Given the description of an element on the screen output the (x, y) to click on. 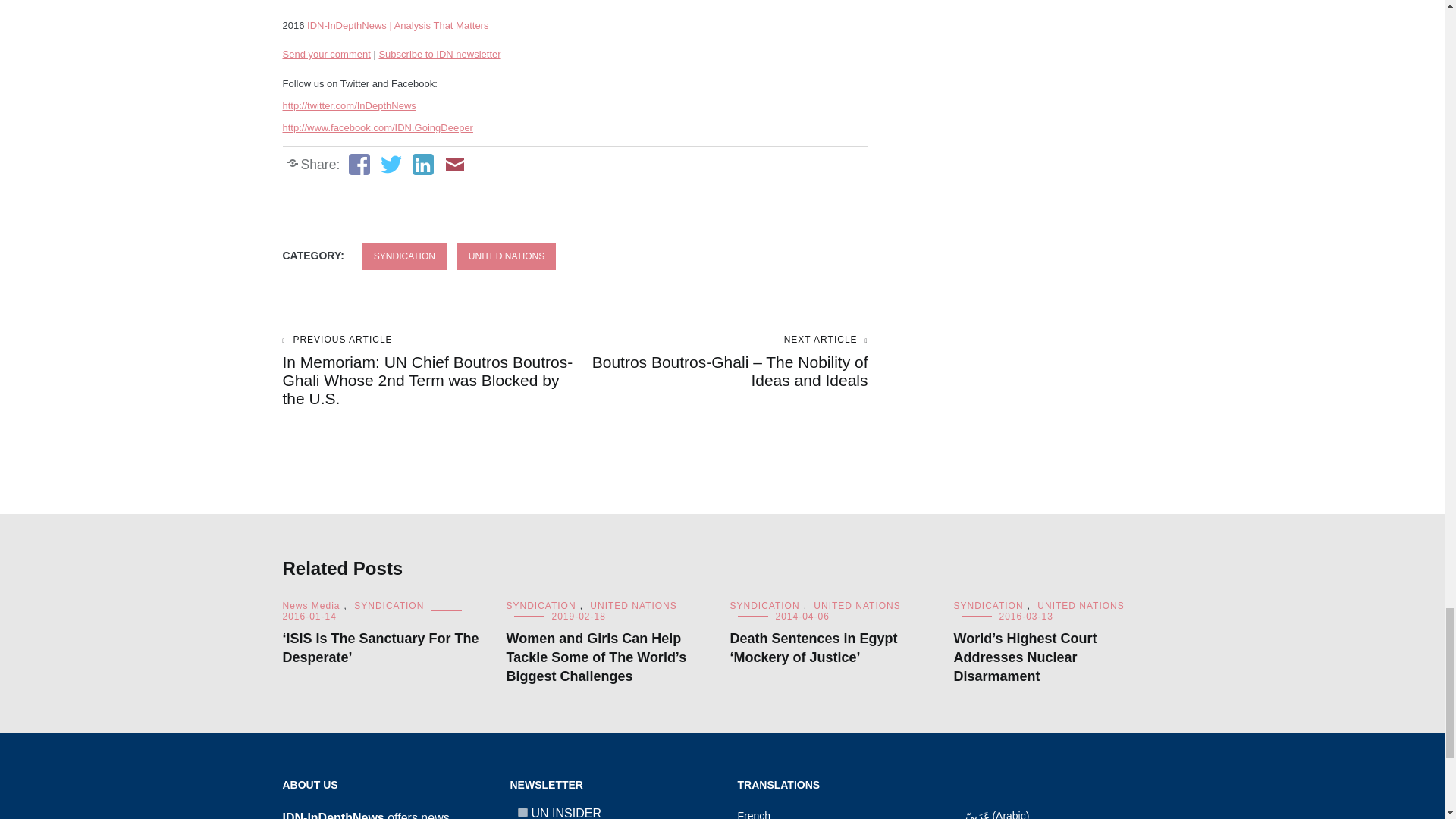
7 (521, 812)
